Given the description of an element on the screen output the (x, y) to click on. 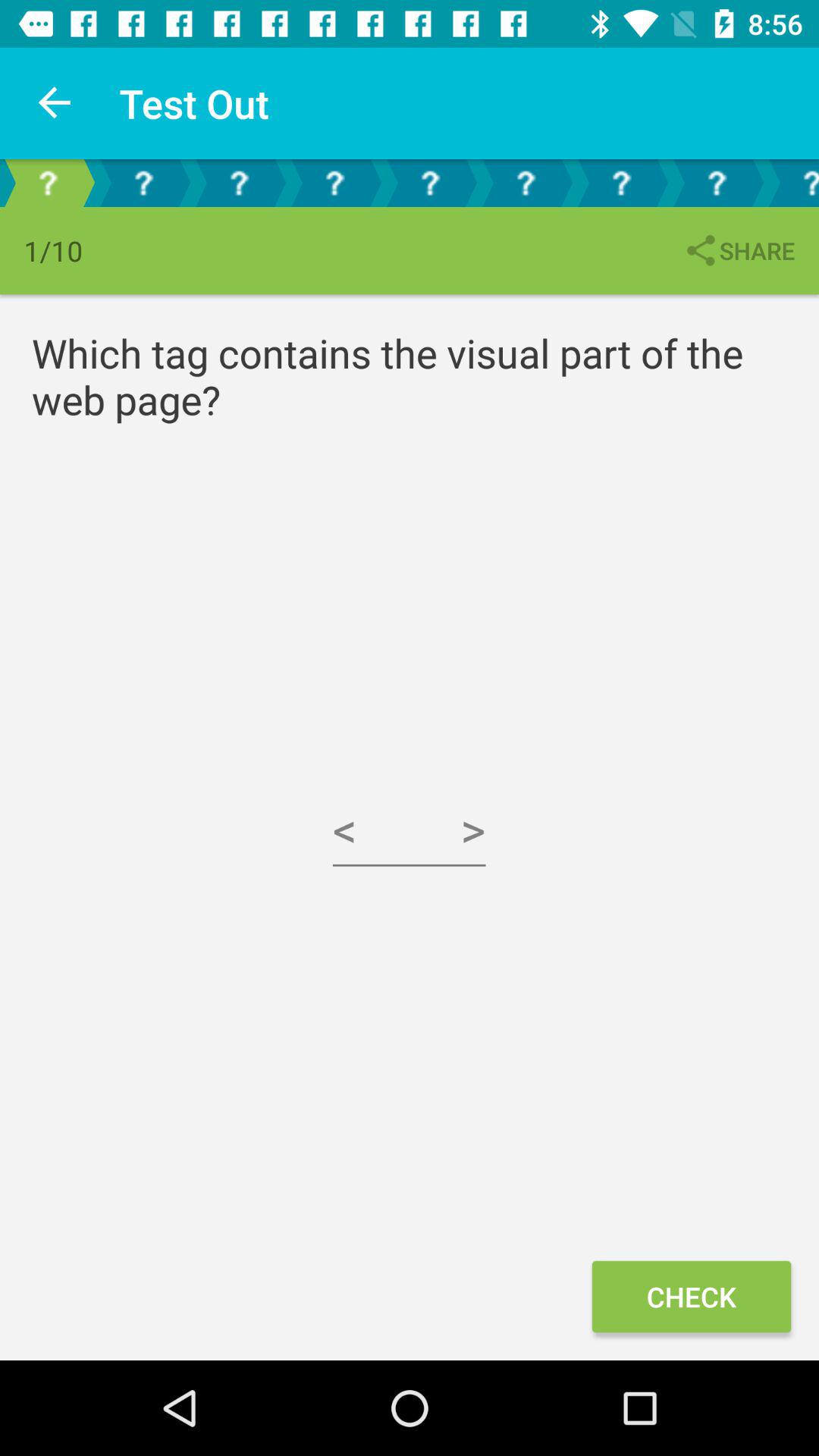
go to the ninth question of the test (791, 183)
